Given the description of an element on the screen output the (x, y) to click on. 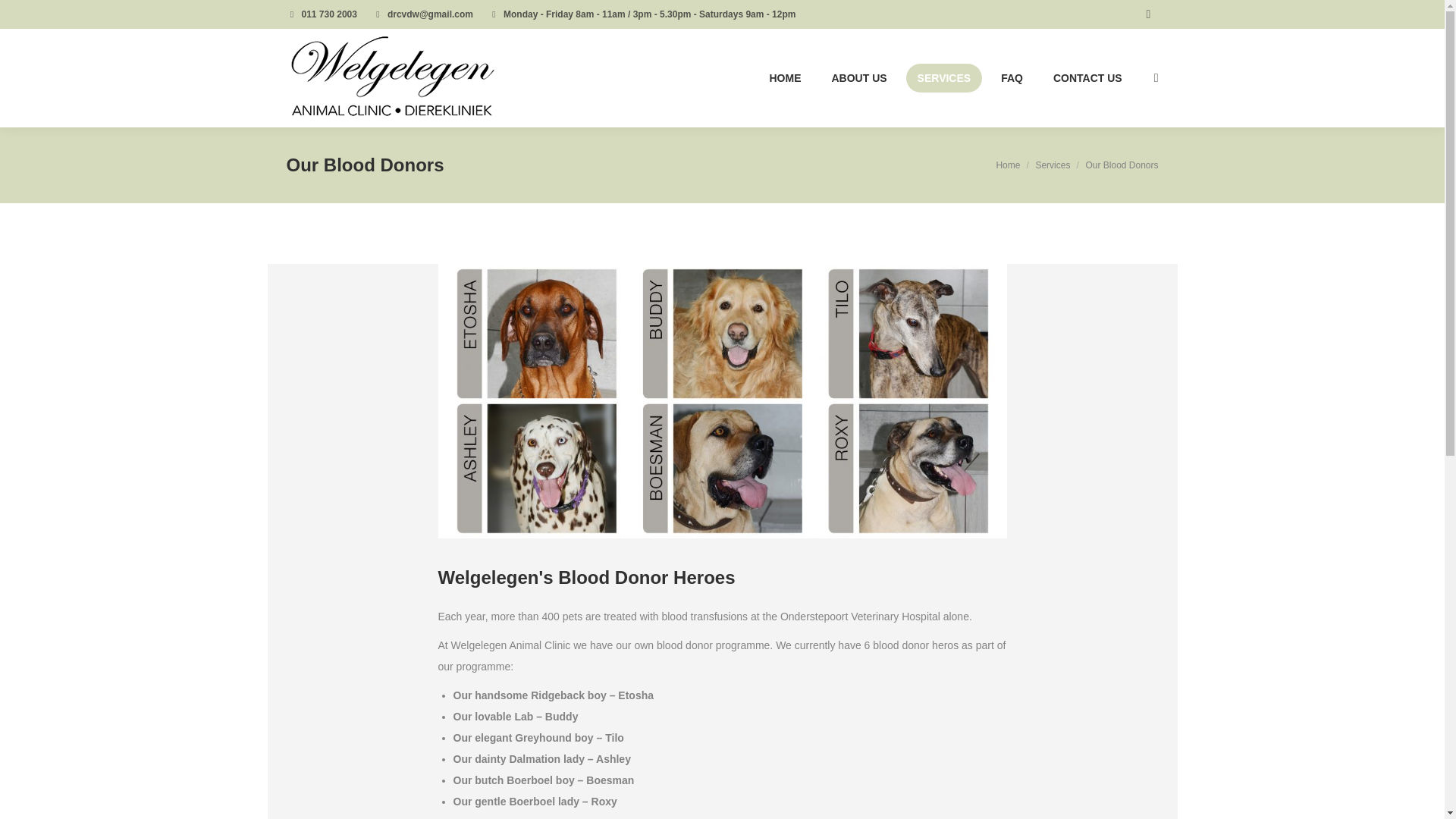
Home (1007, 164)
Facebook page opens in new window (1148, 14)
SERVICES (943, 77)
HOME (784, 77)
FAQ (1011, 77)
Services (1052, 164)
Go! (25, 16)
ABOUT US (858, 77)
011 730 2003 (328, 14)
Facebook page opens in new window (1148, 14)
CONTACT US (1088, 77)
